Given the description of an element on the screen output the (x, y) to click on. 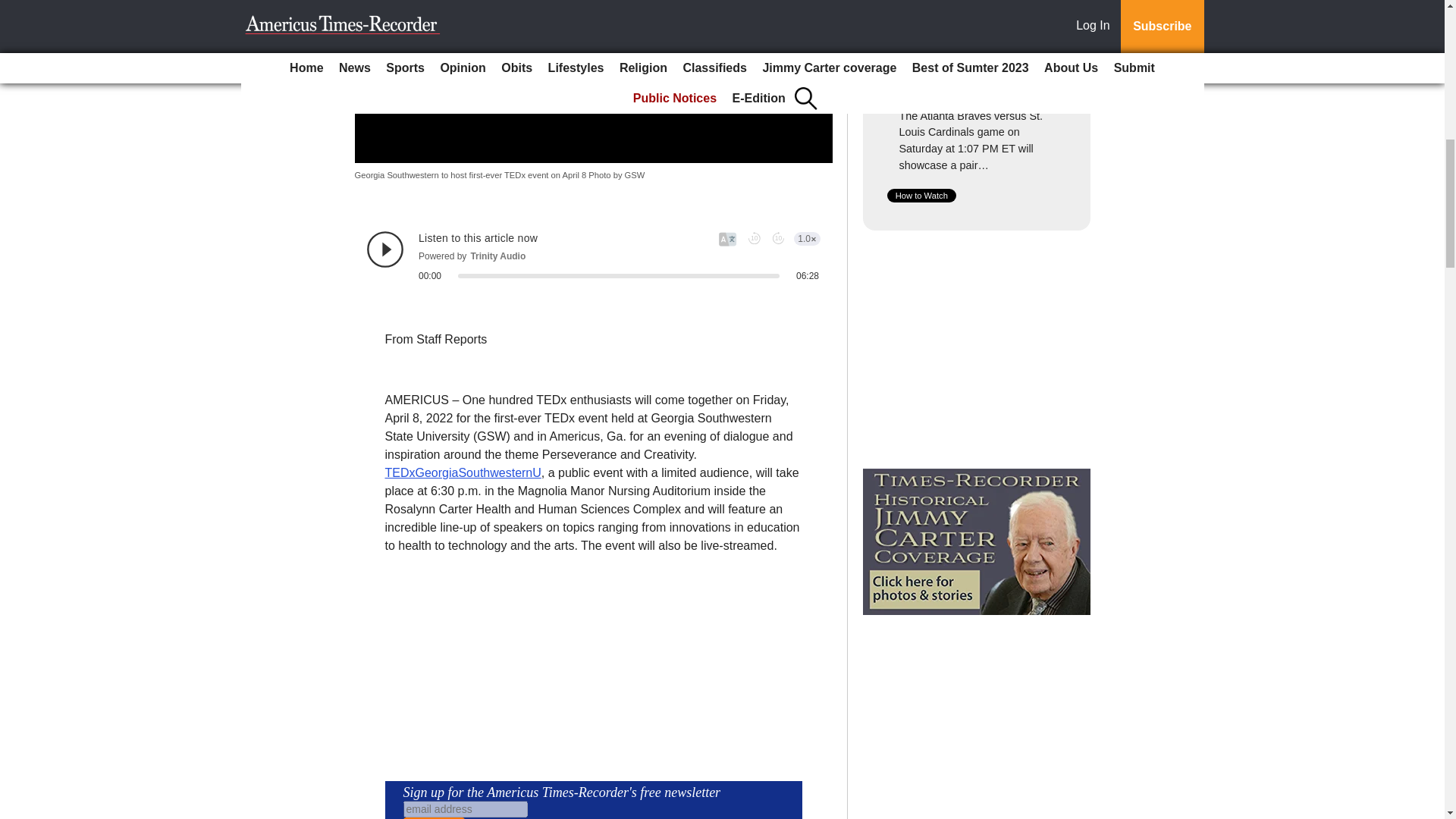
Trinity Audio Player (592, 256)
Subscribe (434, 818)
TEDxGeorgiaSouthwesternU (463, 472)
Subscribe (434, 818)
